Given the description of an element on the screen output the (x, y) to click on. 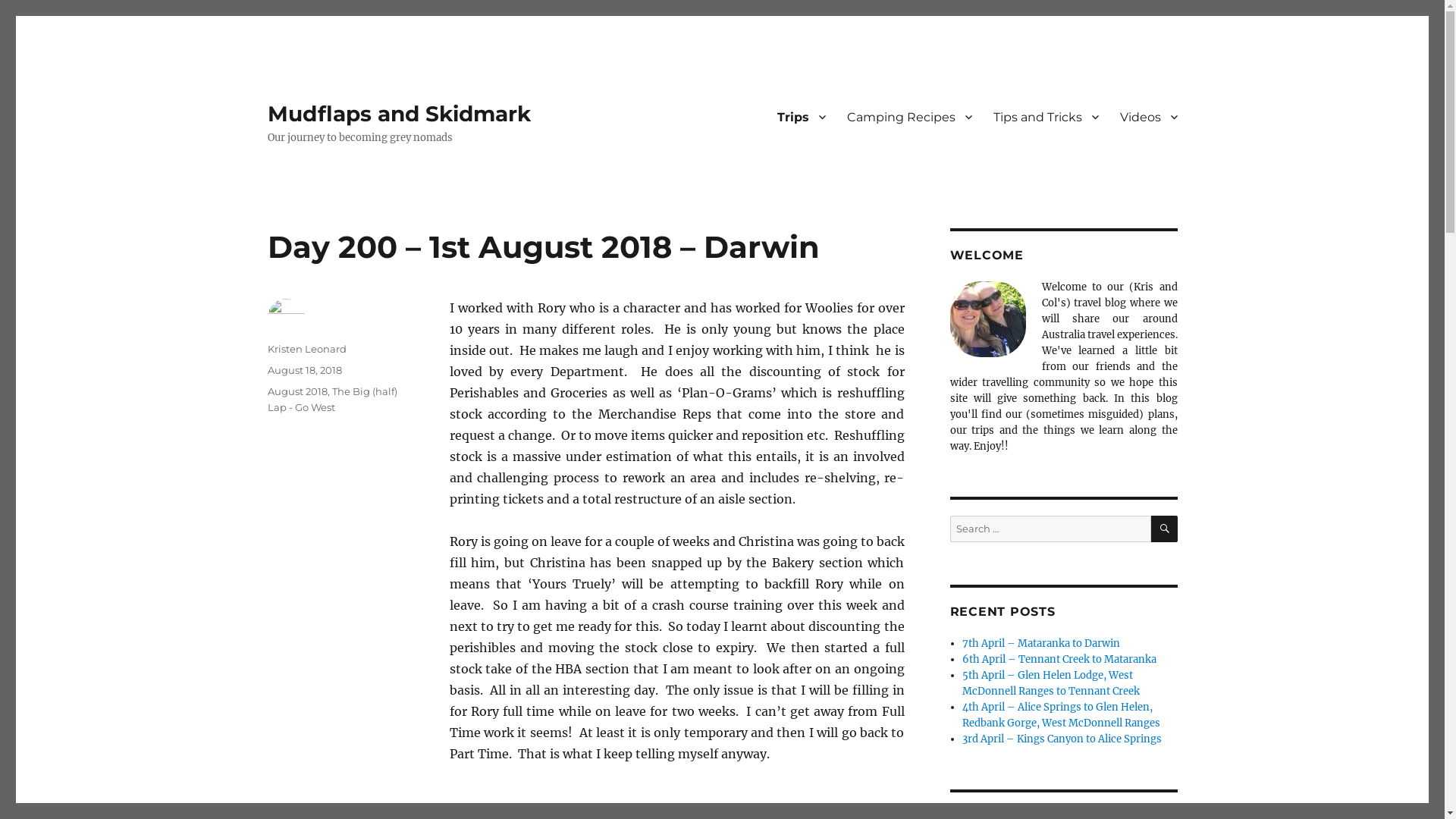
Kristen Leonard Element type: text (305, 348)
Mudflaps and Skidmark Element type: text (398, 113)
August 18, 2018 Element type: text (303, 370)
Camping Recipes Element type: text (908, 116)
Tips and Tricks Element type: text (1045, 116)
SEARCH Element type: text (1164, 528)
Videos Element type: text (1147, 116)
The Big (half) Lap - Go West Element type: text (331, 399)
Trips Element type: text (800, 116)
August 2018 Element type: text (296, 391)
